Given the description of an element on the screen output the (x, y) to click on. 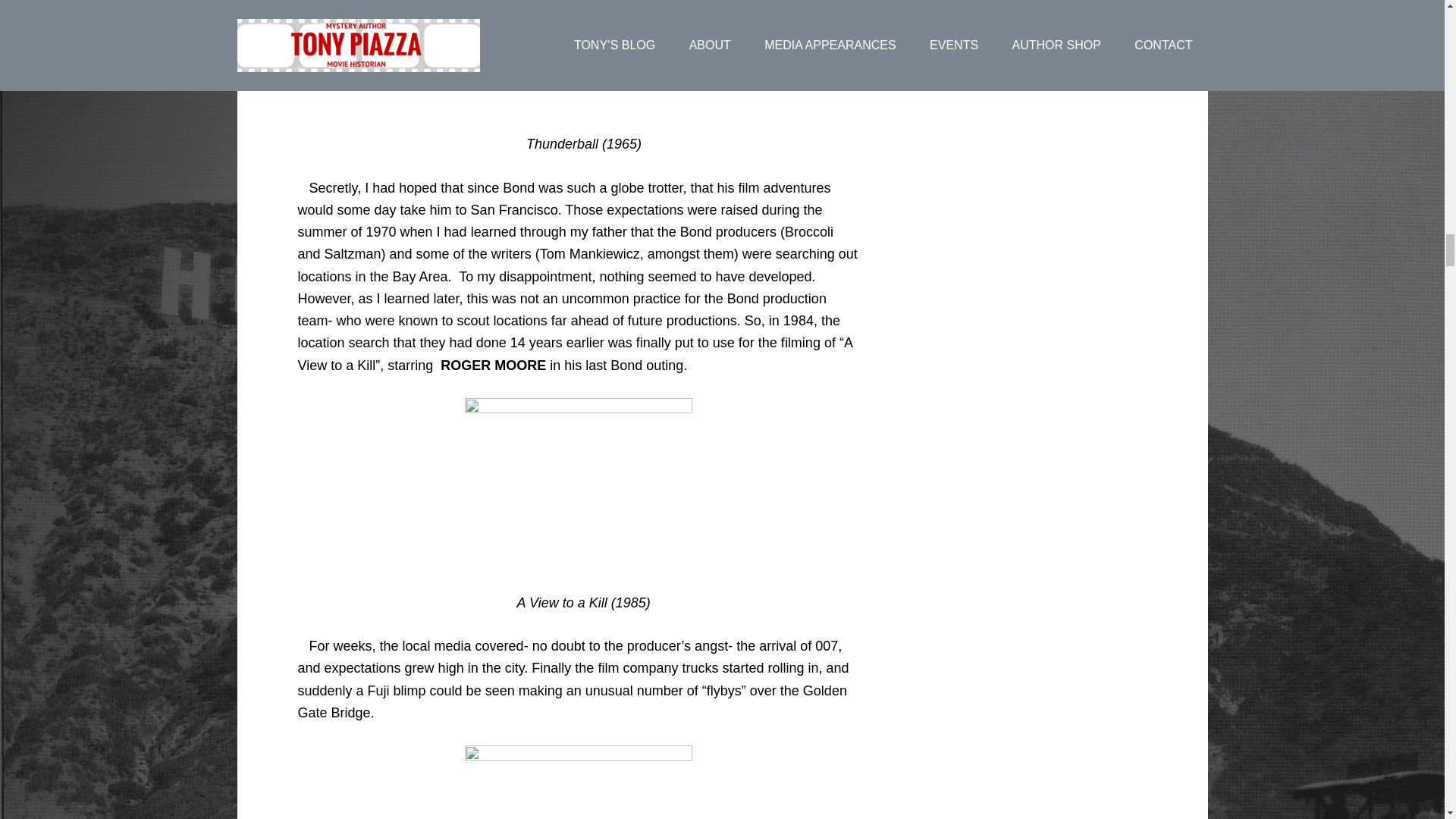
OO72 (577, 484)
thunderball (578, 56)
007 (577, 782)
